Given the description of an element on the screen output the (x, y) to click on. 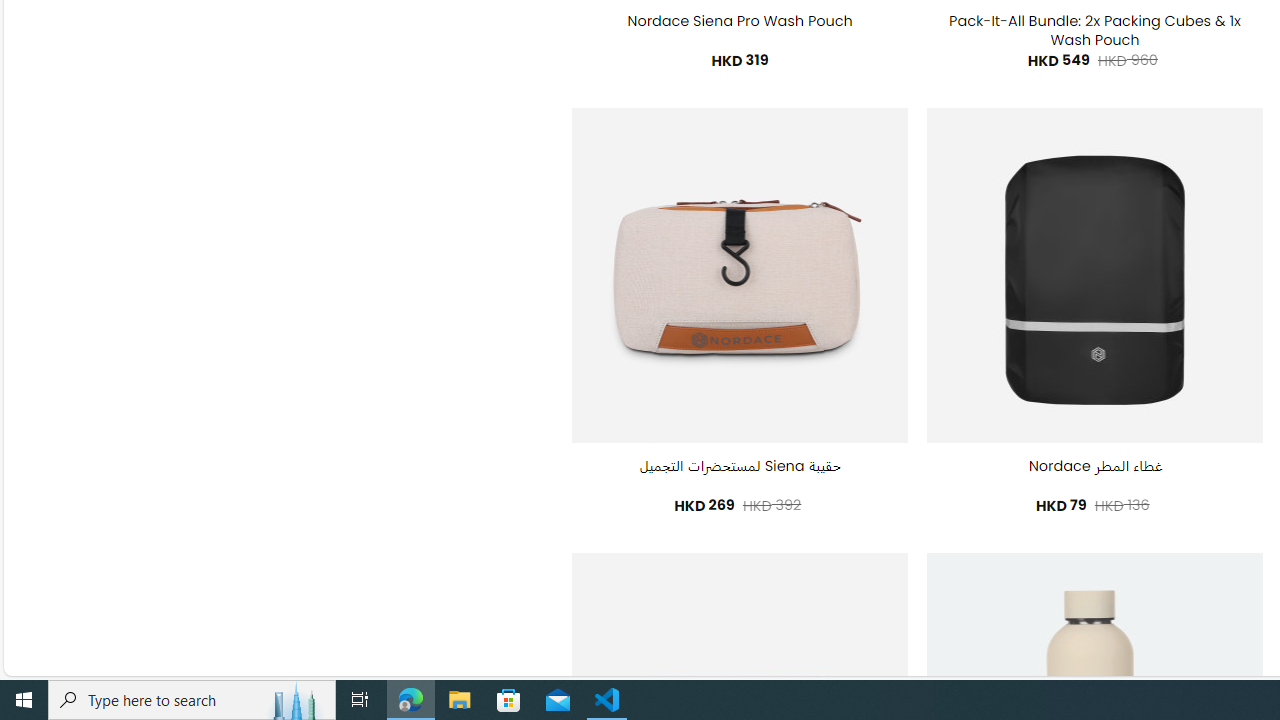
Pack-It-All Bundle: 2x Packing Cubes & 1x Wash Pouch (1094, 29)
Nordace Siena Pro Wash Pouch (739, 21)
